Given the description of an element on the screen output the (x, y) to click on. 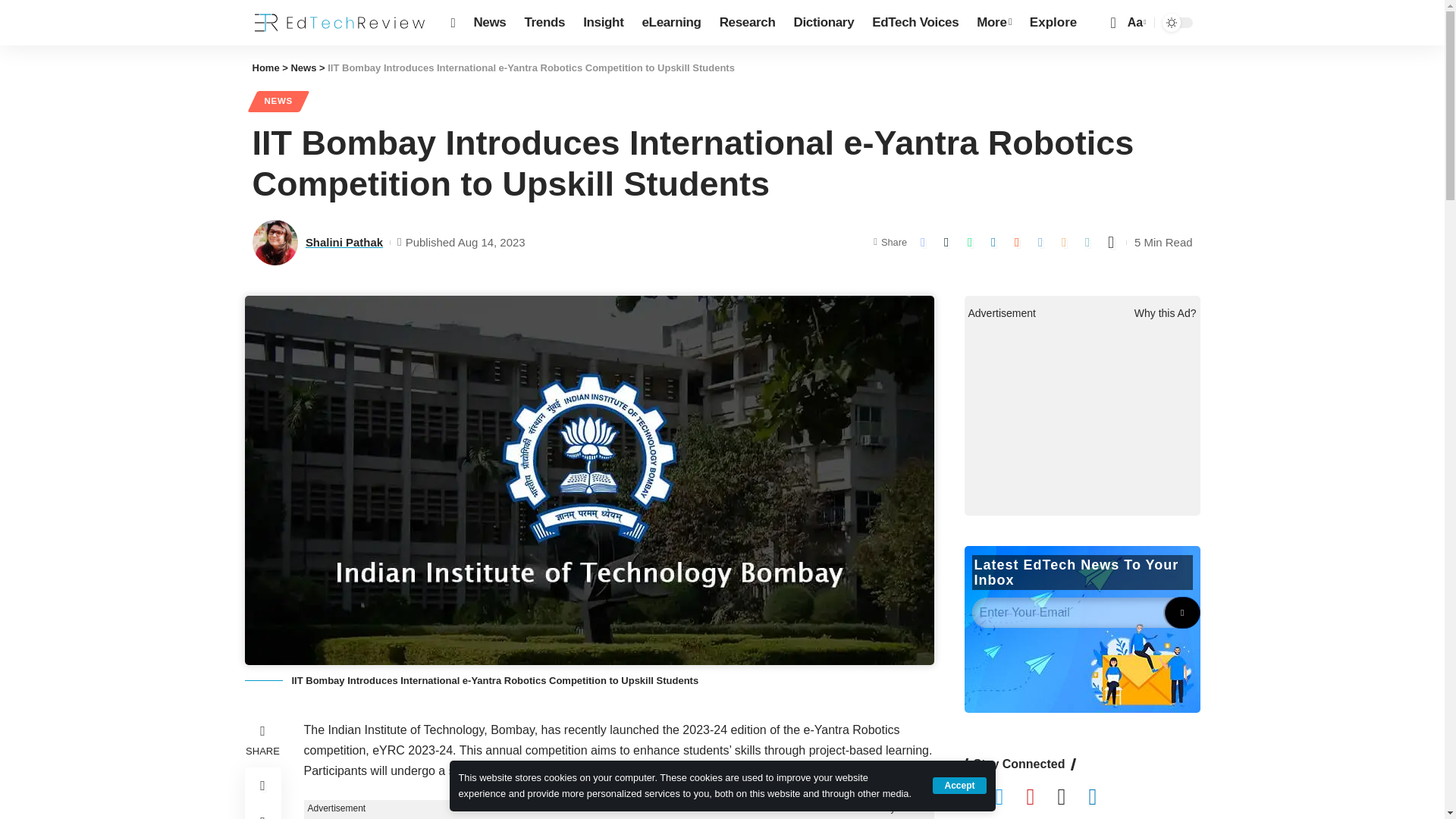
Trends (544, 22)
News (489, 22)
Follow EdTechReview on Facebook (979, 797)
Go to EdTechReview. (265, 67)
Follow EdTechReview on YouTube (1041, 797)
Go to the News Category archives. (302, 67)
Insight (602, 22)
Explore (1053, 22)
EdTechReview (338, 22)
Follow EdTechReview on Twitter (1010, 797)
Accept (959, 785)
Research (747, 22)
Shalini-pathak (274, 242)
More (994, 22)
